Given the description of an element on the screen output the (x, y) to click on. 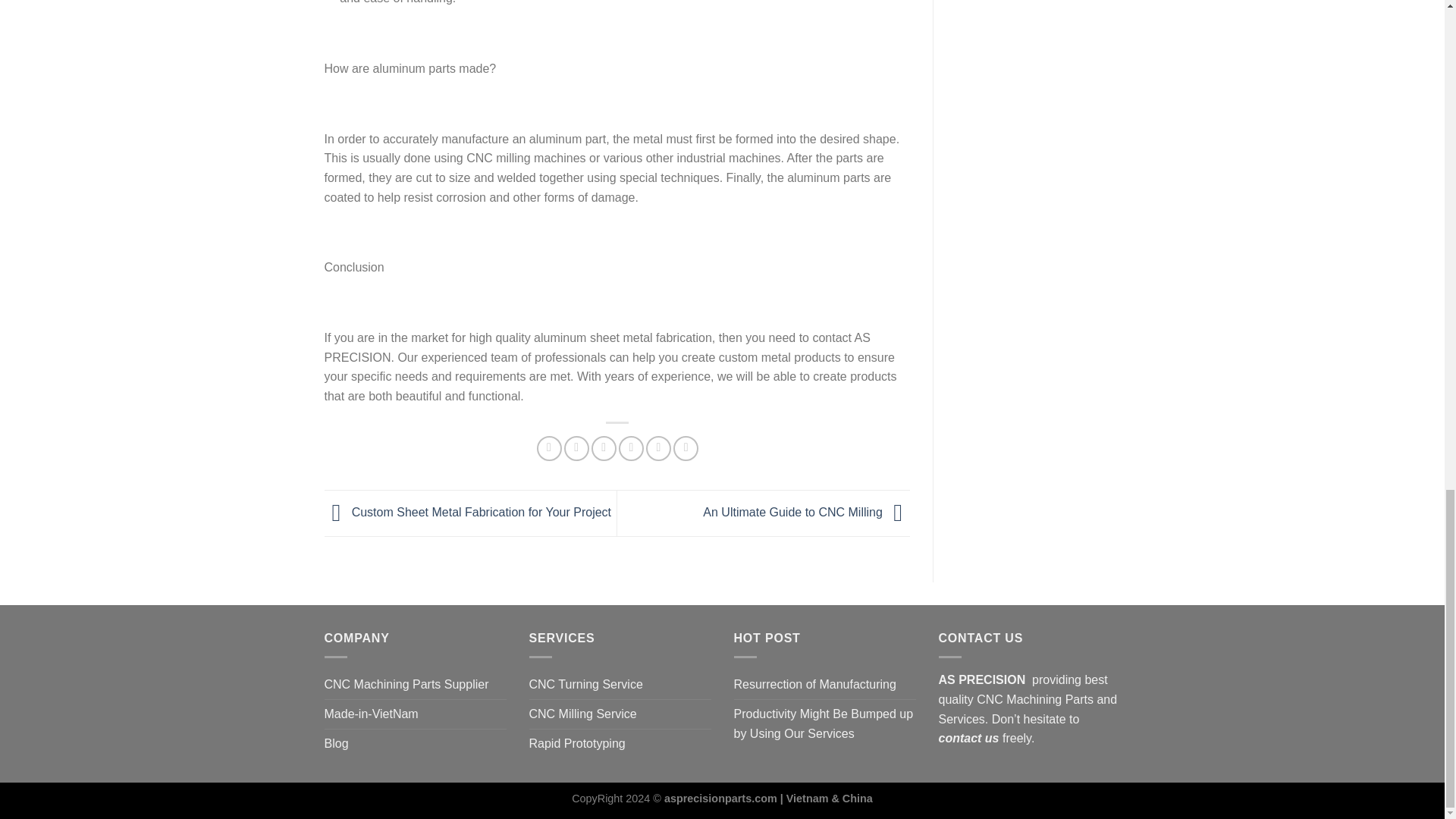
An Ultimate Guide to CNC Milling (806, 512)
Custom Sheet Metal Fabrication for Your Project (467, 512)
